Given the description of an element on the screen output the (x, y) to click on. 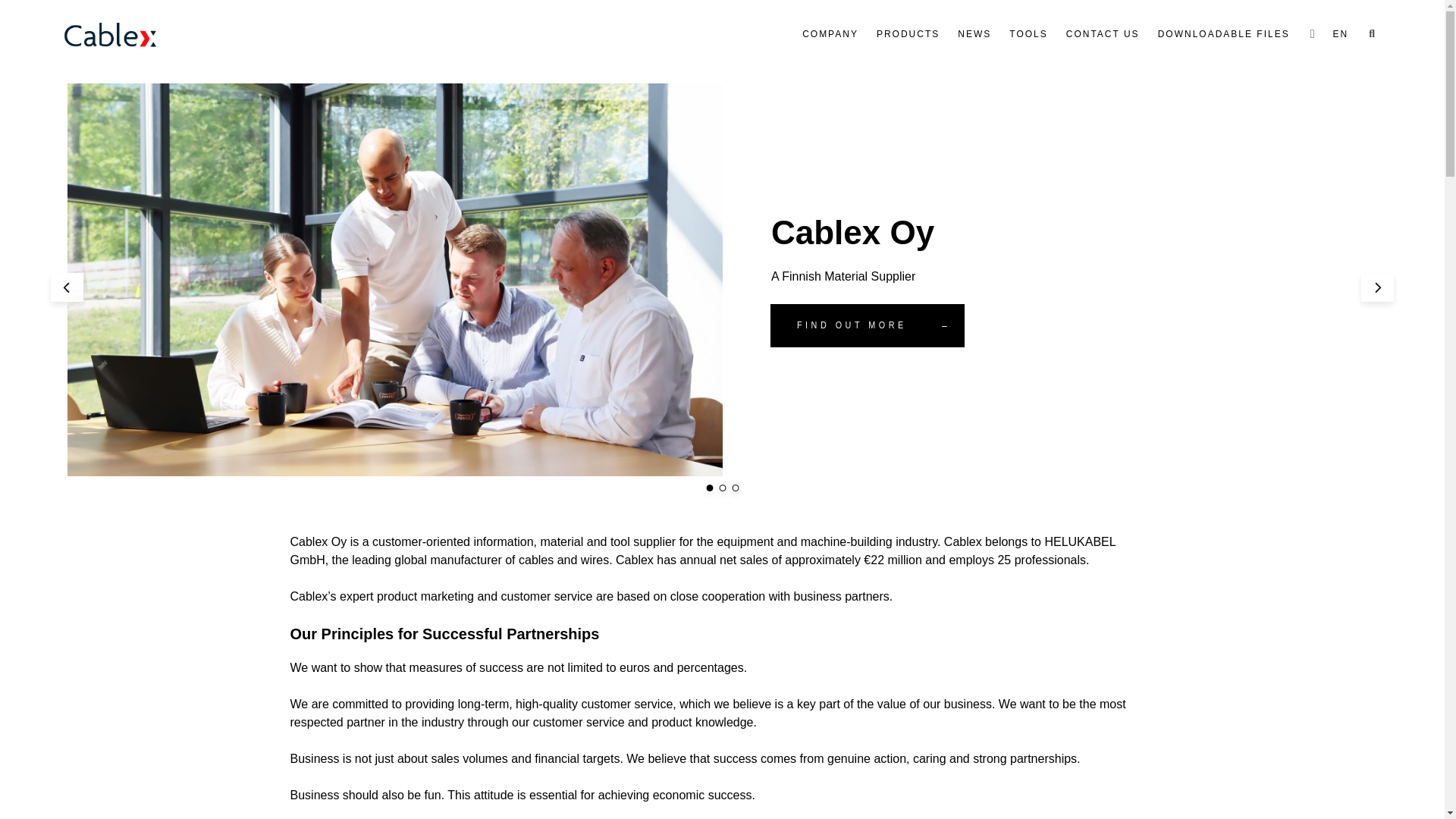
PRODUCTS (908, 33)
COMPANY (830, 33)
